Given the description of an element on the screen output the (x, y) to click on. 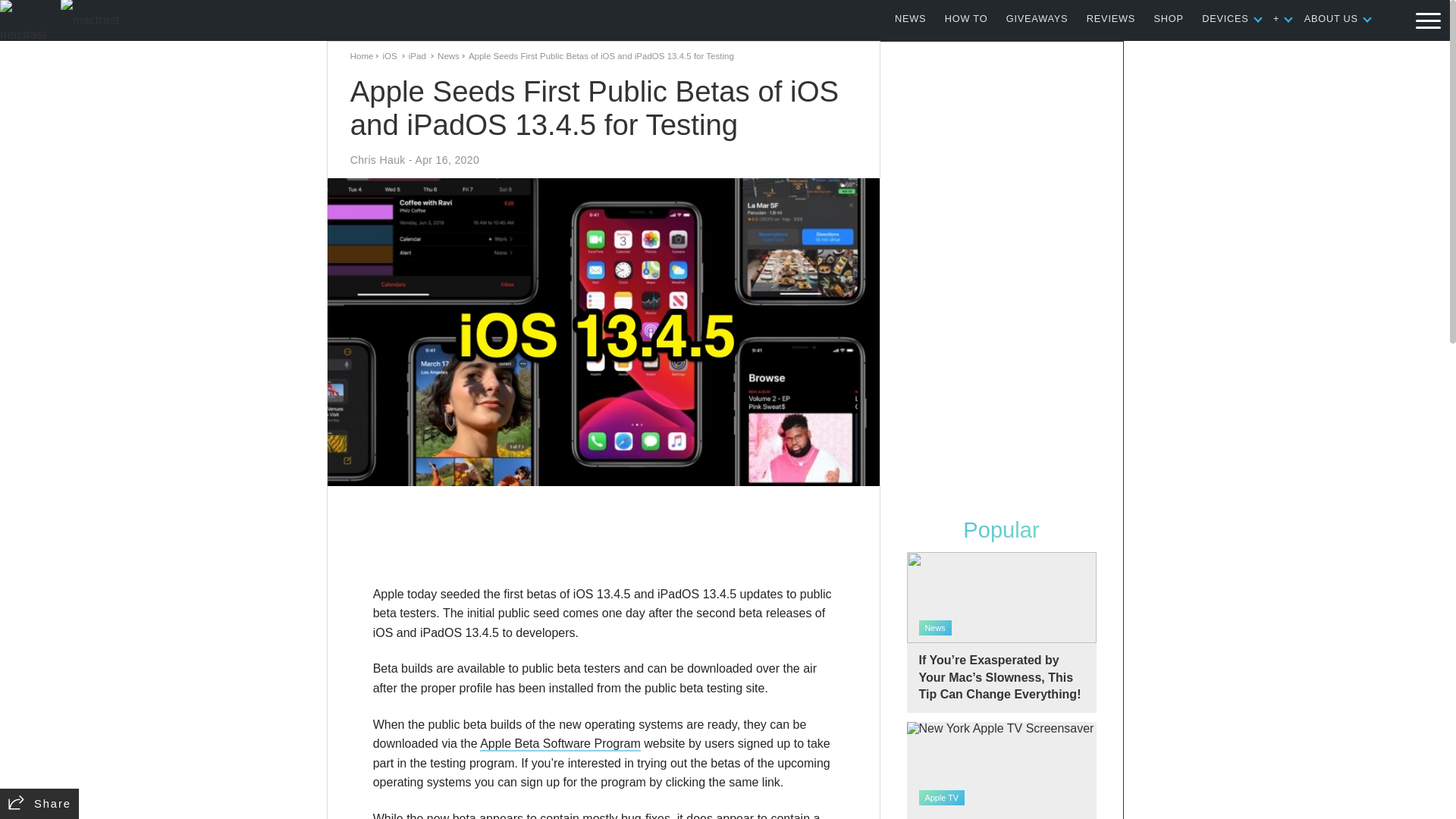
HOW TO (966, 18)
DEVICES (1224, 18)
Posts by Chris Hauk (378, 159)
SHOP (1168, 18)
NEWS (910, 18)
Apple TV Screensavers and Their Locations Identified 2024 (1001, 770)
REVIEWS (1110, 18)
GIVEAWAYS (1037, 18)
ABOUT US (1331, 18)
